Given the description of an element on the screen output the (x, y) to click on. 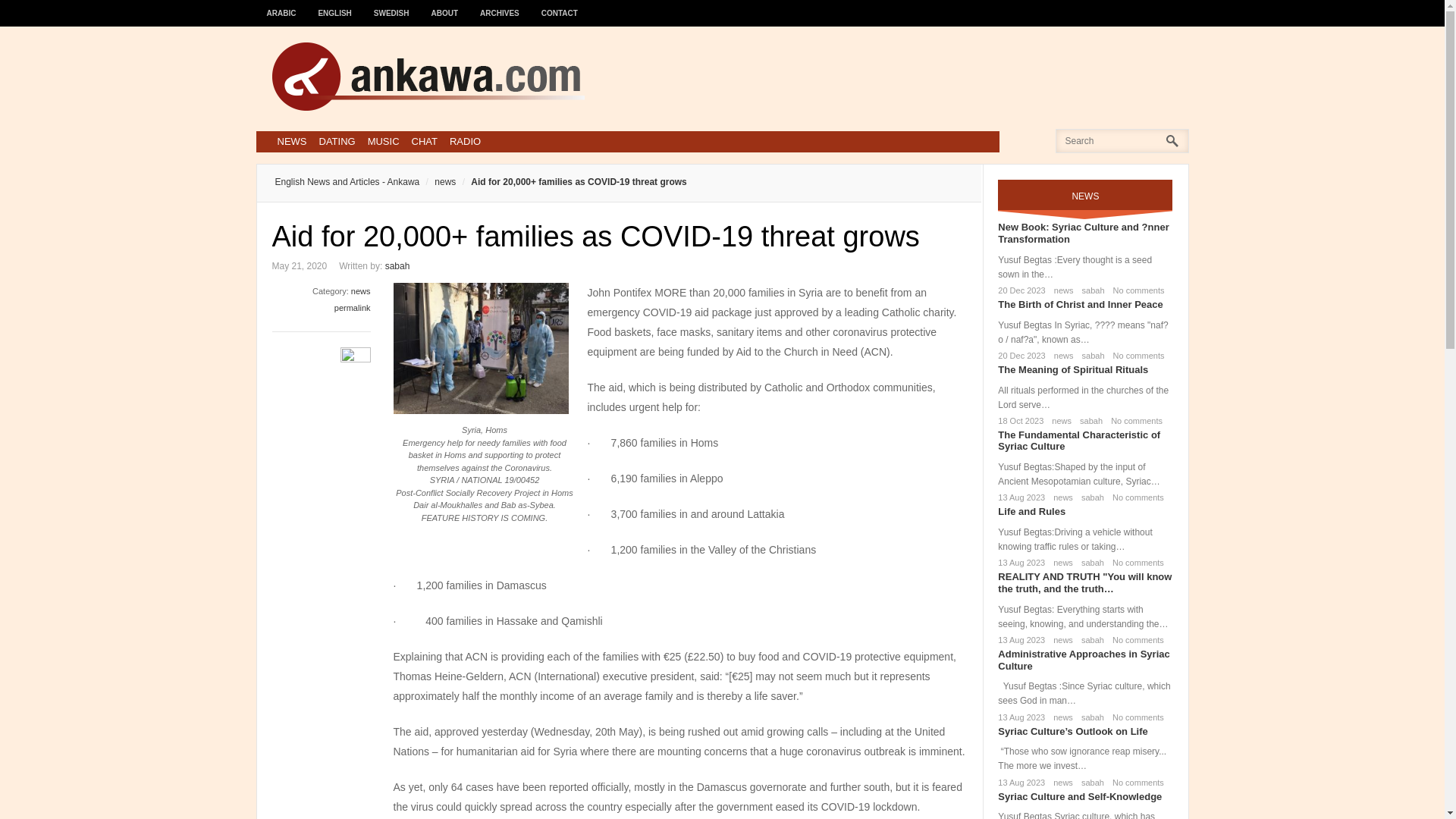
CONTACT (560, 5)
sabah (1090, 355)
NEWS (291, 141)
ARCHIVES (499, 5)
No comments (1135, 355)
ARABIC (281, 5)
View all posts by sabah (397, 266)
news (1059, 497)
The Meaning of Spiritual Rituals (1072, 369)
news (1059, 562)
The Birth of Christ and Inner Peace (1079, 304)
No comments (1134, 497)
news (437, 181)
news (1058, 420)
The Meaning of Spiritual Rituals (1072, 369)
